Given the description of an element on the screen output the (x, y) to click on. 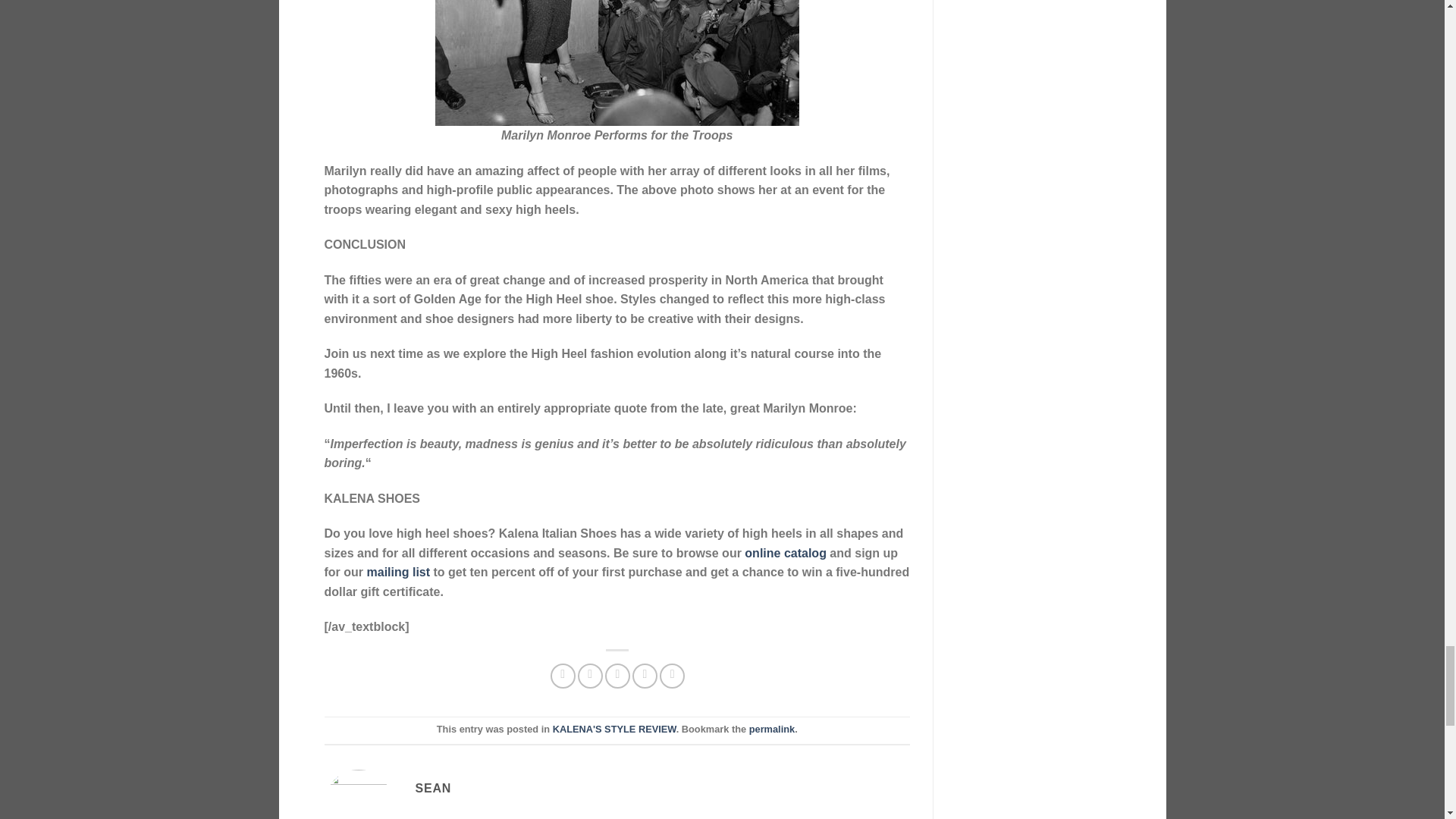
Kalena Shoes Women (785, 553)
online catalog (785, 553)
KALENA'S STYLE REVIEW (615, 728)
mailing list (398, 571)
Kalena Mailing List (398, 571)
permalink (771, 728)
